Given the description of an element on the screen output the (x, y) to click on. 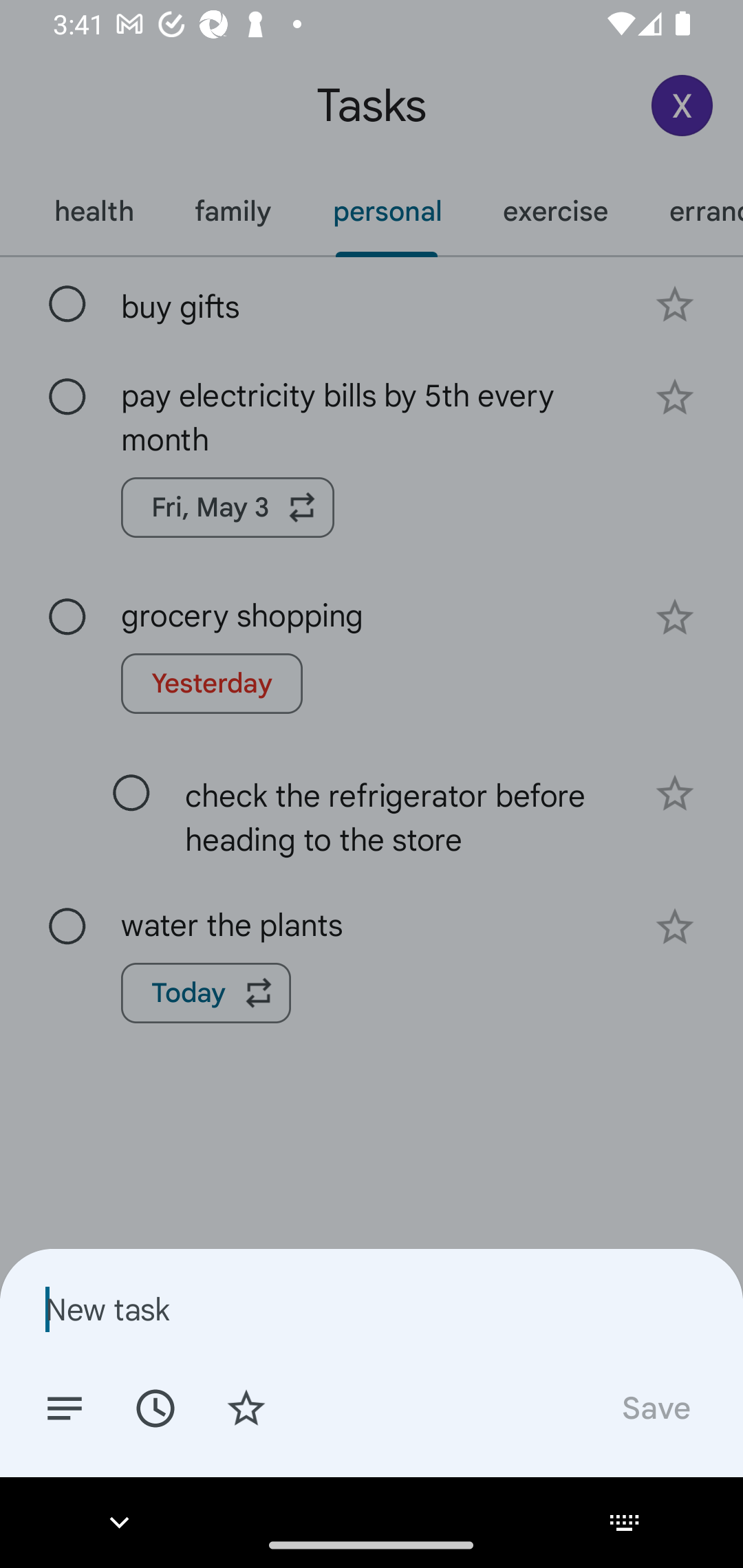
New task (371, 1308)
Save (655, 1407)
Add details (64, 1407)
Set date/time (154, 1407)
Add star (245, 1407)
